Given the description of an element on the screen output the (x, y) to click on. 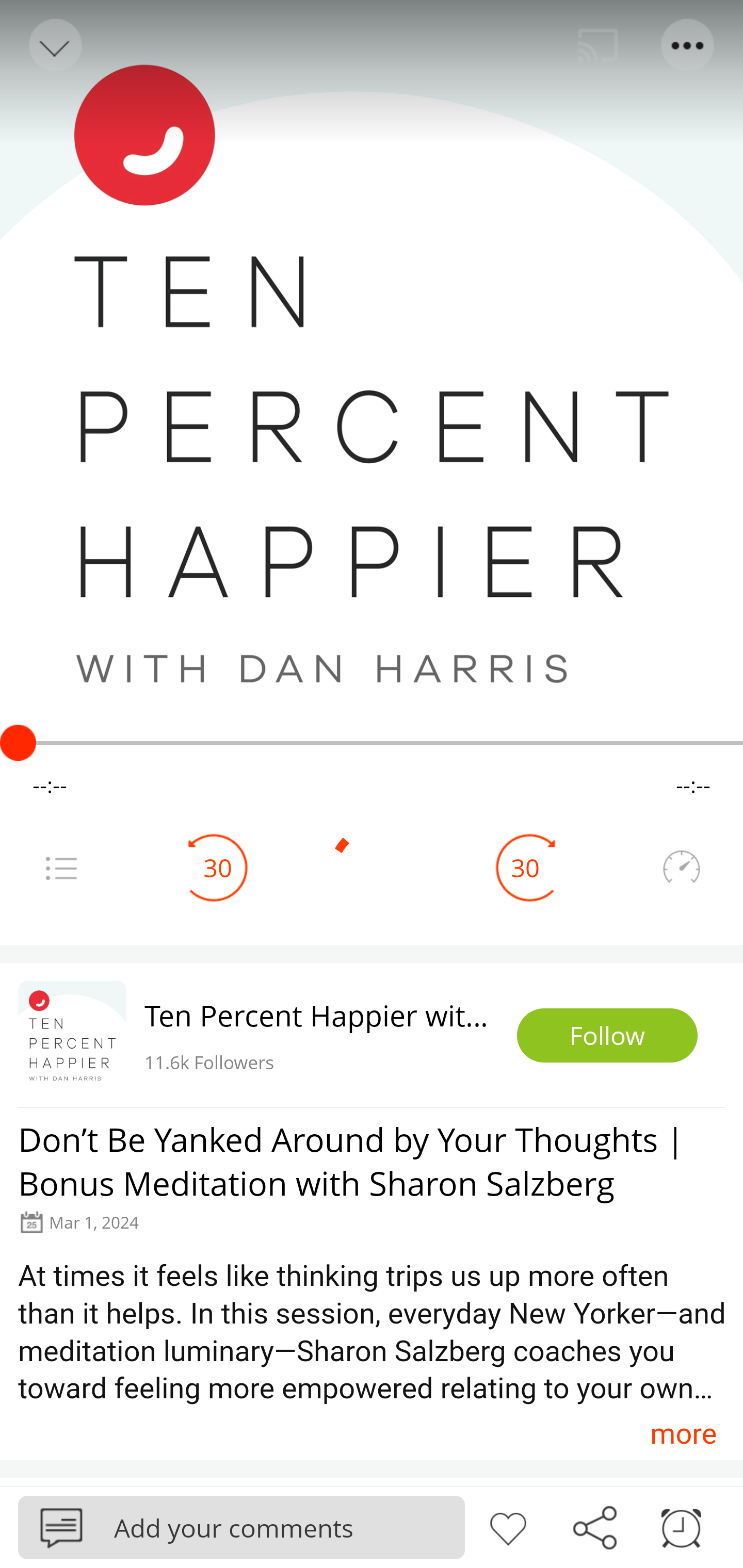
Back (53, 45)
Cast. Disconnected (597, 45)
Menu (688, 45)
30 Seek Backward (217, 867)
30 Seek Forward (525, 867)
Menu (60, 867)
Speedometer (681, 867)
Follow (607, 1035)
more (682, 1432)
Like (508, 1526)
Share (594, 1526)
Sleep timer (681, 1526)
Podbean Add your comments (241, 1526)
